Given the description of an element on the screen output the (x, y) to click on. 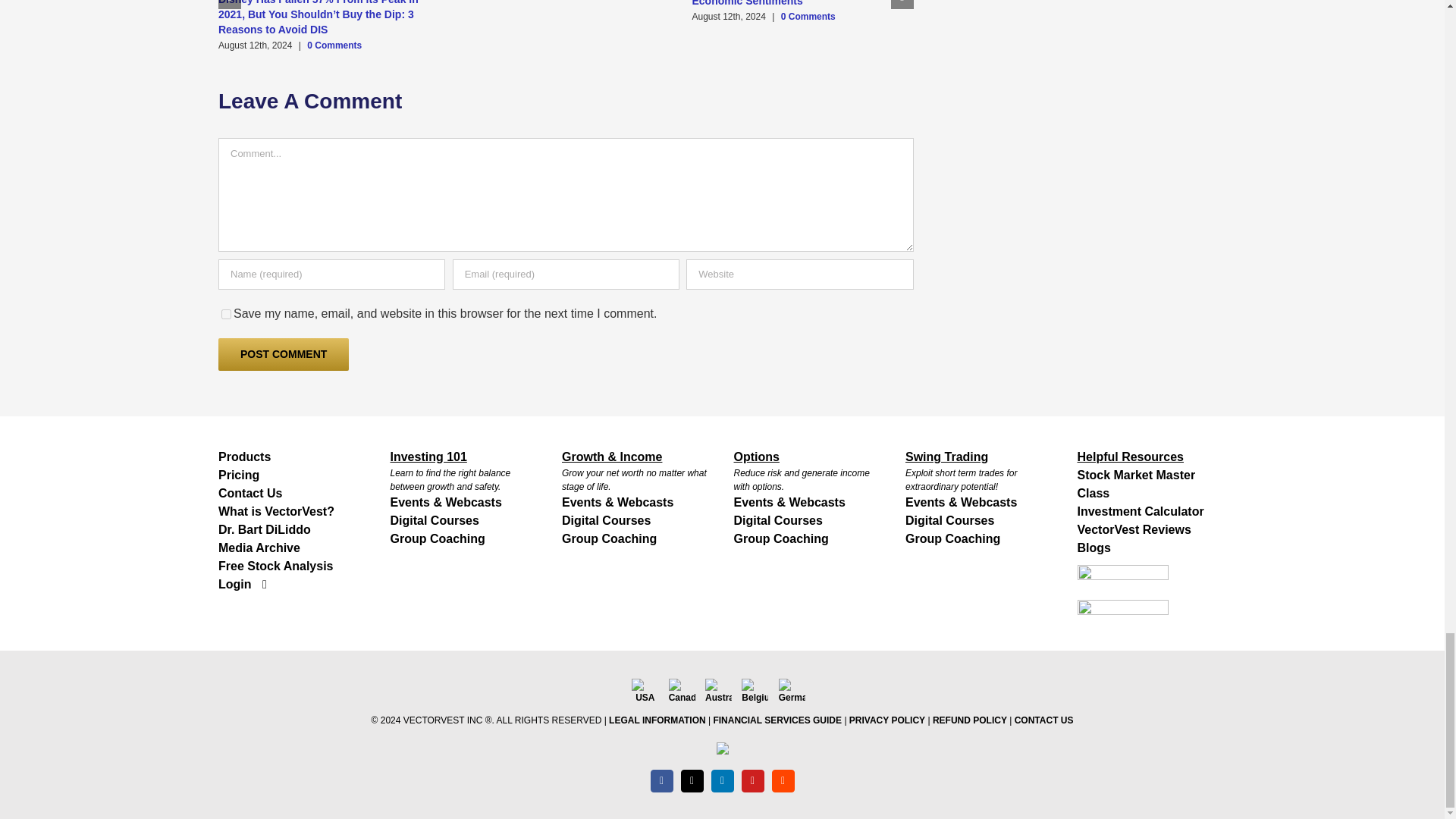
yes (226, 314)
Facebook (661, 780)
Weekly Market Recap: A Rollercoaster of Economic Sentiments (793, 3)
LinkedIn (722, 780)
Post Comment (283, 354)
X (692, 780)
